Given the description of an element on the screen output the (x, y) to click on. 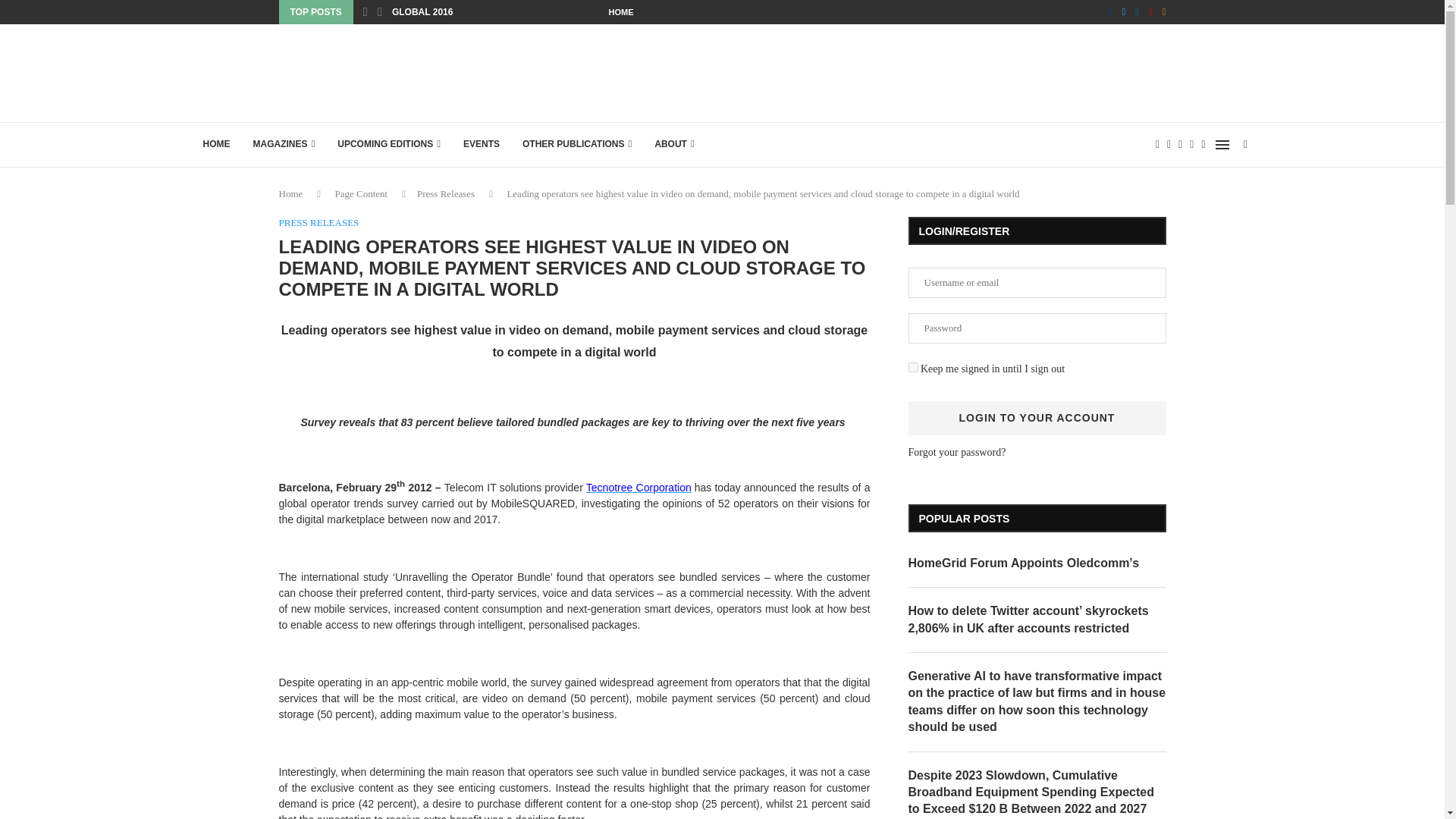
Login to your account (1037, 417)
forever (913, 367)
MAGAZINES (283, 144)
HOME (215, 144)
HOME (620, 12)
GLOBAL 2016 (421, 12)
